Given the description of an element on the screen output the (x, y) to click on. 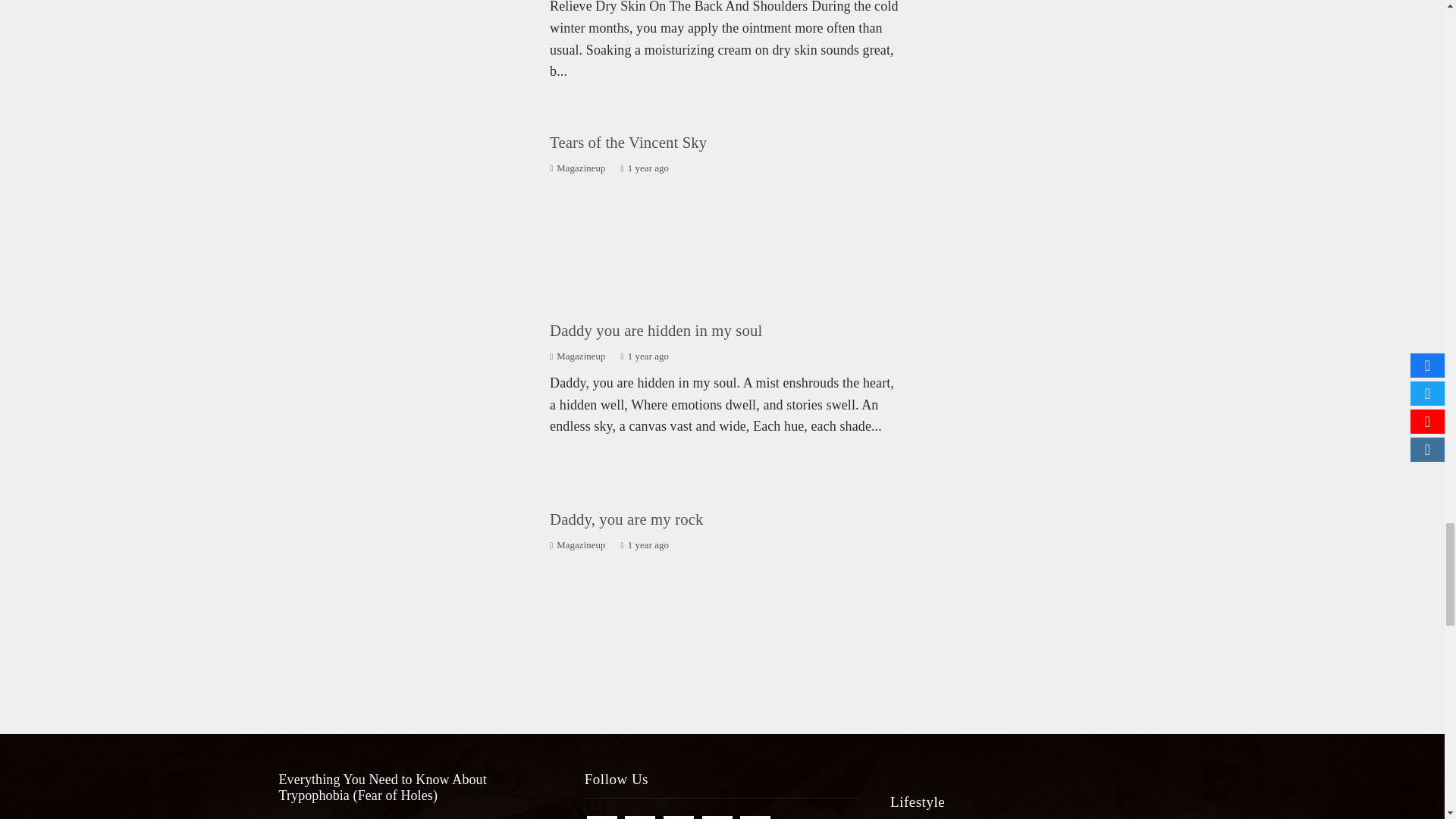
Youtube (716, 817)
Daddy you are hidden in my soul (655, 330)
Tears of the Vincent Sky (628, 141)
Facebook (601, 817)
Daddy, you are my rock (626, 518)
Pinterest (678, 817)
Twitter (639, 817)
